Given the description of an element on the screen output the (x, y) to click on. 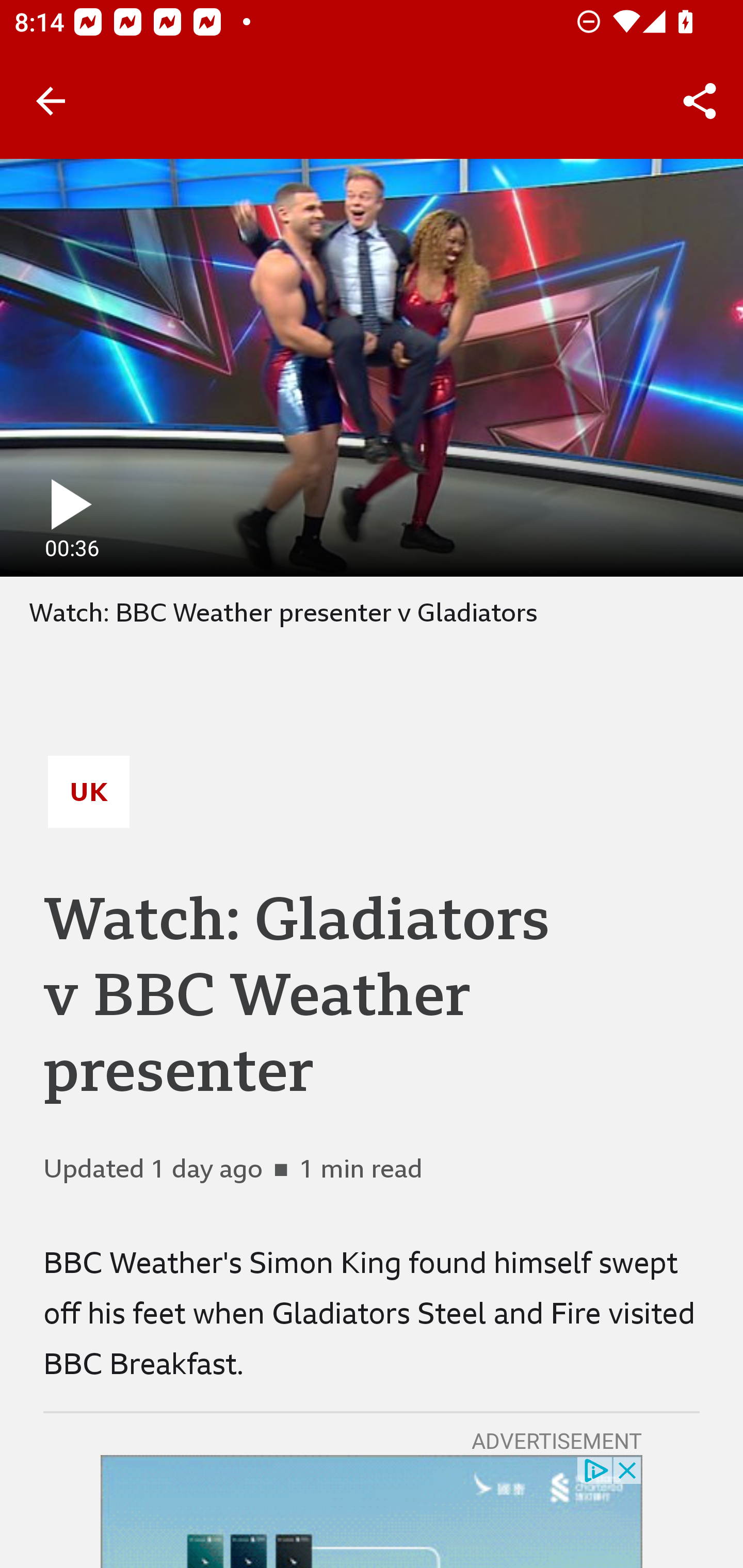
Back (50, 101)
Share (699, 101)
play fullscreen 00:36 0 minutes, 36 seconds (371, 367)
UK (88, 791)
privacy_small (595, 1469)
close_button (627, 1469)
